Given the description of an element on the screen output the (x, y) to click on. 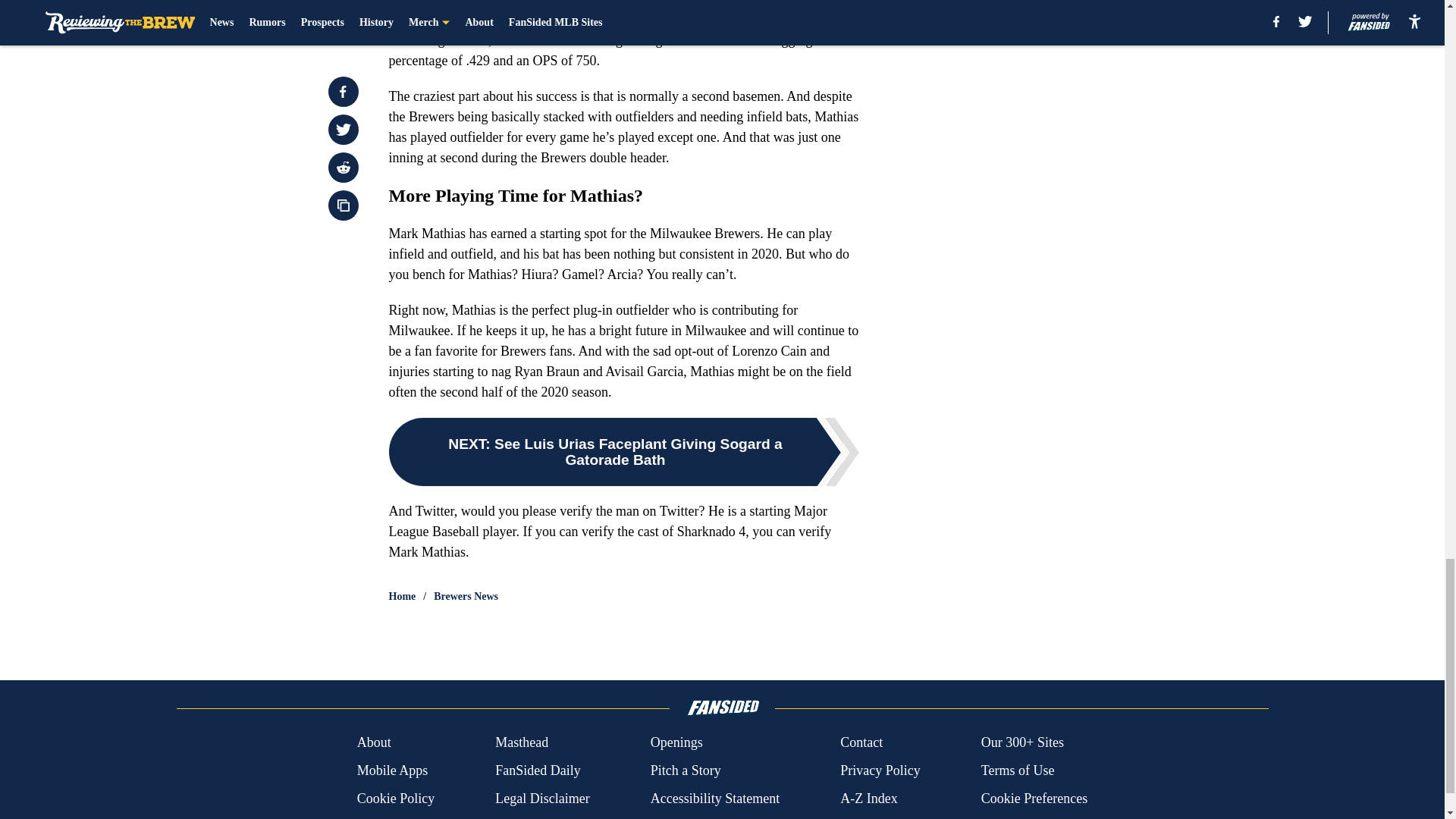
Cookie Policy (395, 798)
Mobile Apps (392, 770)
FanSided Daily (537, 770)
Masthead (521, 742)
About (373, 742)
Brewers News (465, 596)
Legal Disclaimer (542, 798)
NEXT: See Luis Urias Faceplant Giving Sogard a Gatorade Bath (623, 451)
Terms of Use (1017, 770)
Pitch a Story (685, 770)
